Given the description of an element on the screen output the (x, y) to click on. 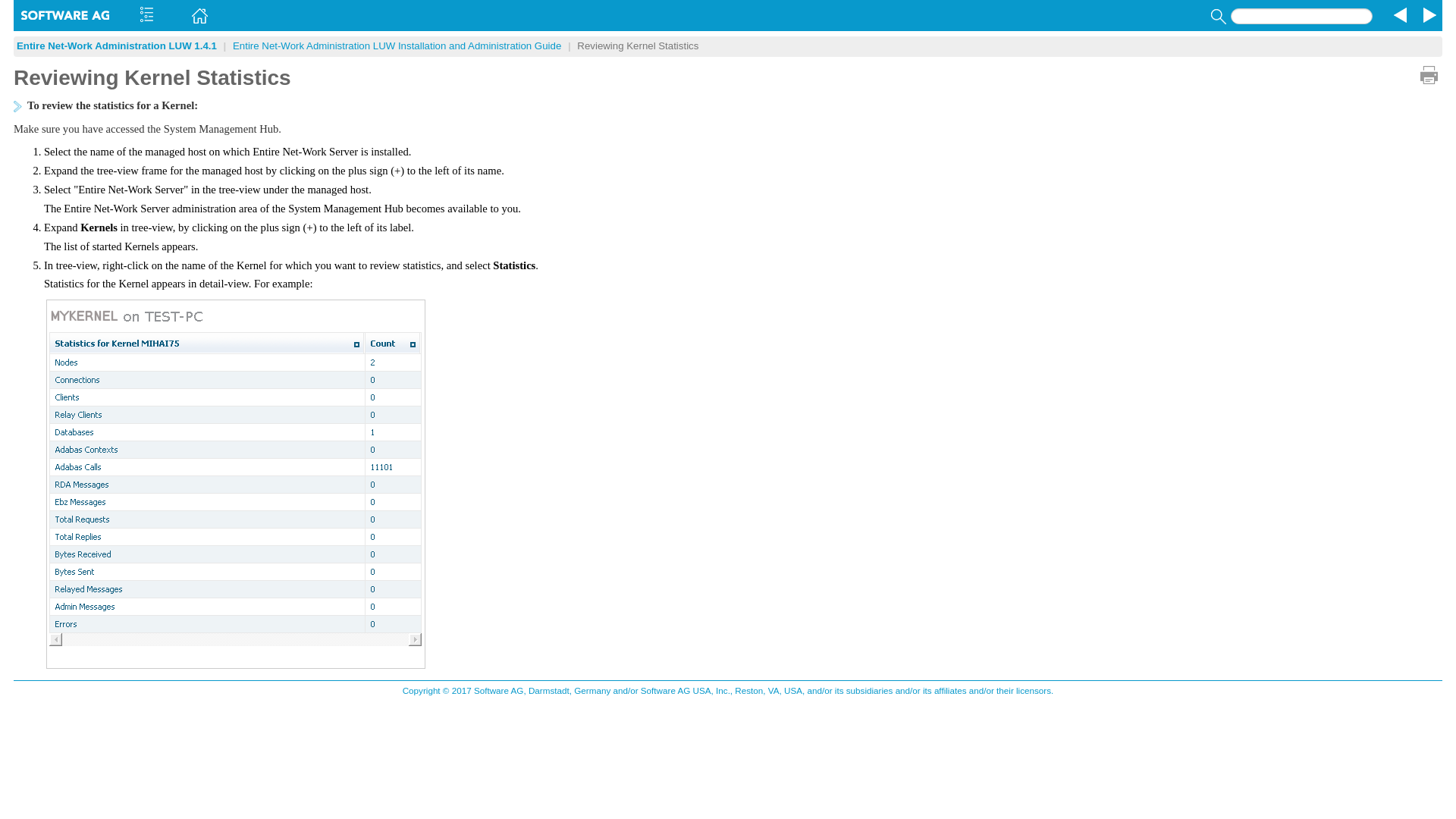
Home (197, 14)
Contents (146, 14)
Previous (1398, 14)
Search (1216, 16)
